Given the description of an element on the screen output the (x, y) to click on. 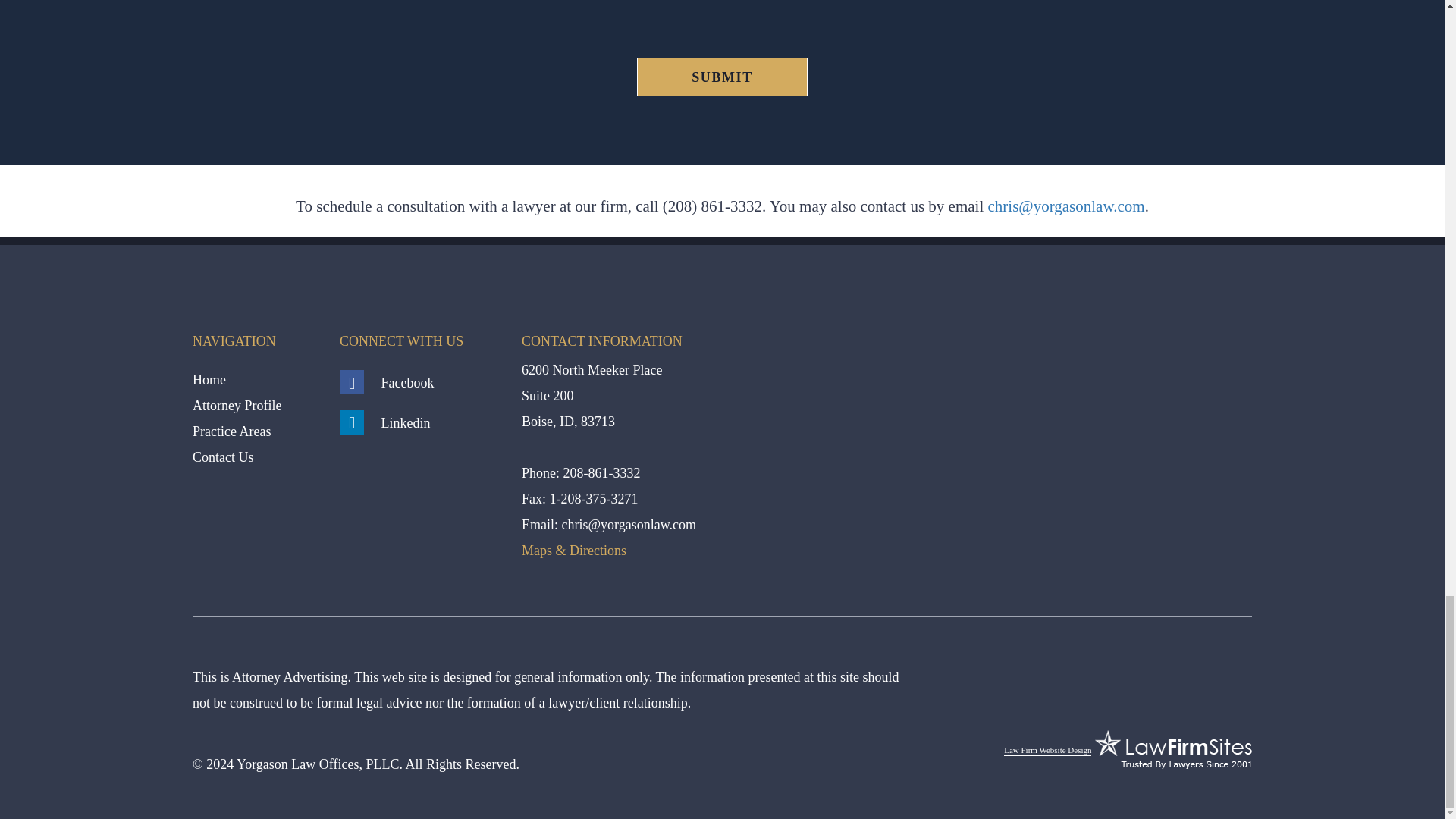
Linkedin (384, 422)
Practice Areas (231, 431)
Home (208, 379)
Submit (722, 76)
Attorney Profile (236, 405)
Facebook (386, 382)
Contact Us (222, 457)
Submit (722, 76)
